Given the description of an element on the screen output the (x, y) to click on. 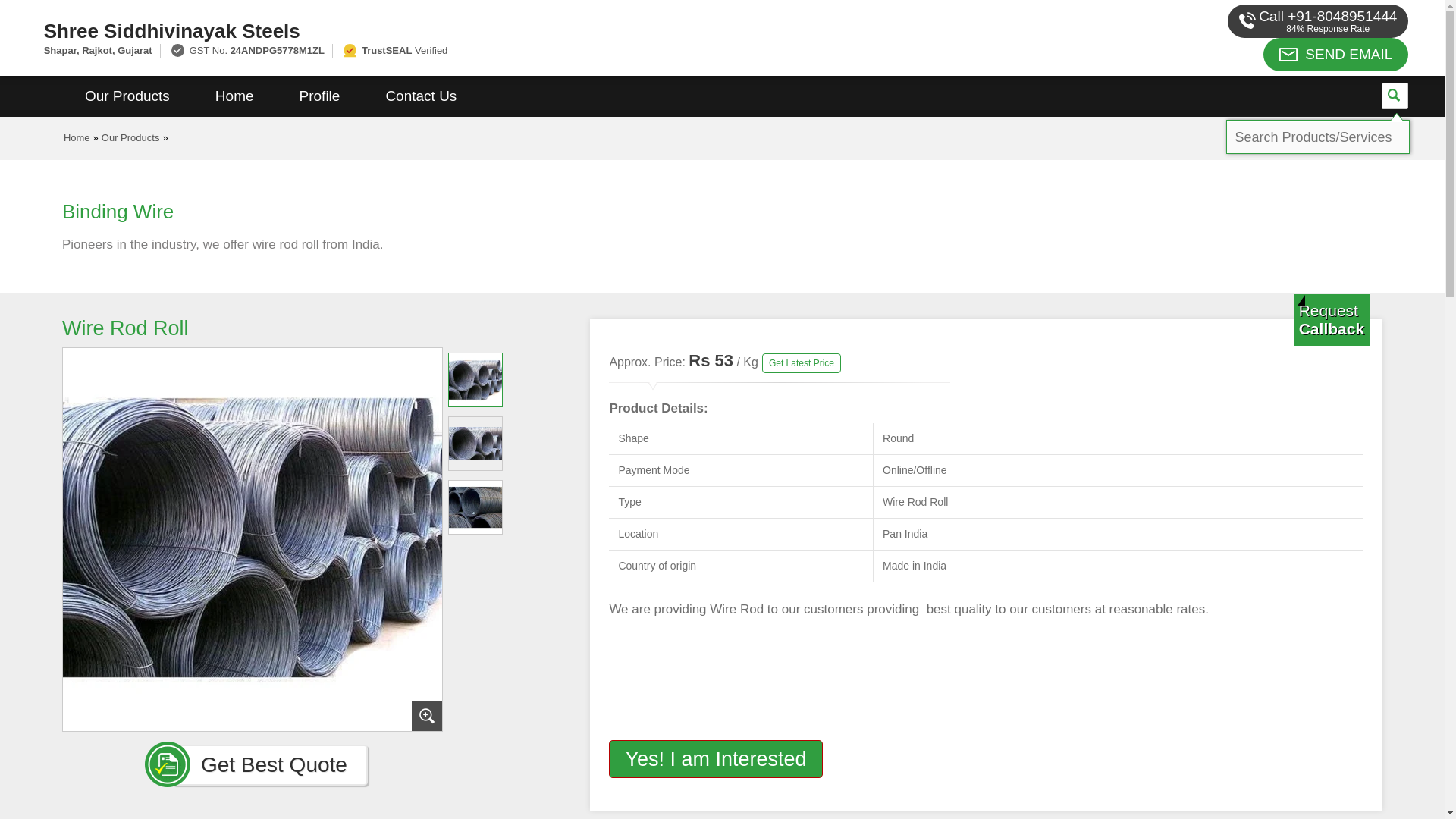
Home (234, 96)
Contact Us (420, 96)
Home (77, 137)
Shree Siddhivinayak Steels (480, 31)
Our Products (130, 137)
Get a Call from us (1332, 319)
Profile (319, 96)
Our Products (127, 96)
